Given the description of an element on the screen output the (x, y) to click on. 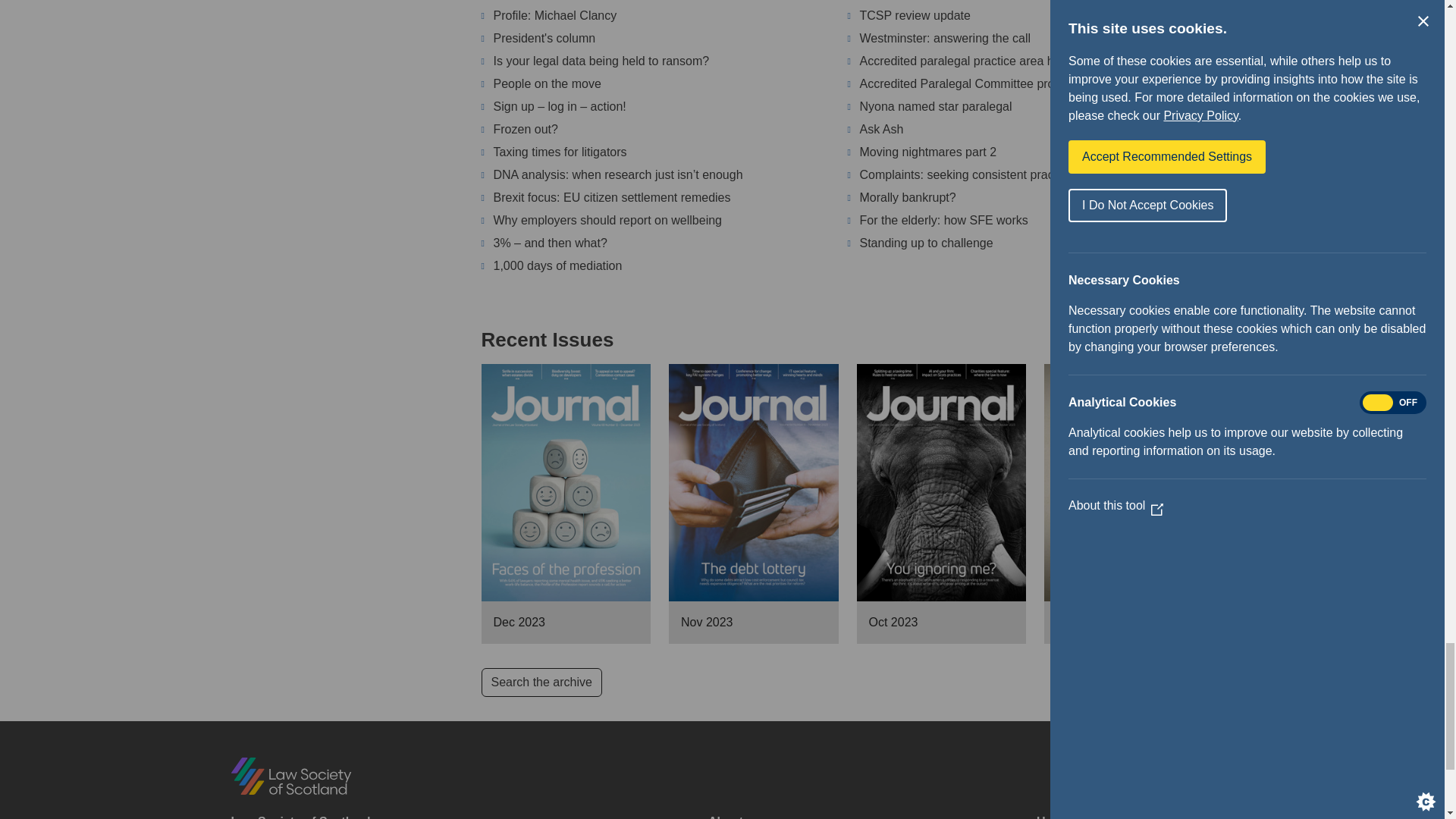
Home (290, 775)
